Given the description of an element on the screen output the (x, y) to click on. 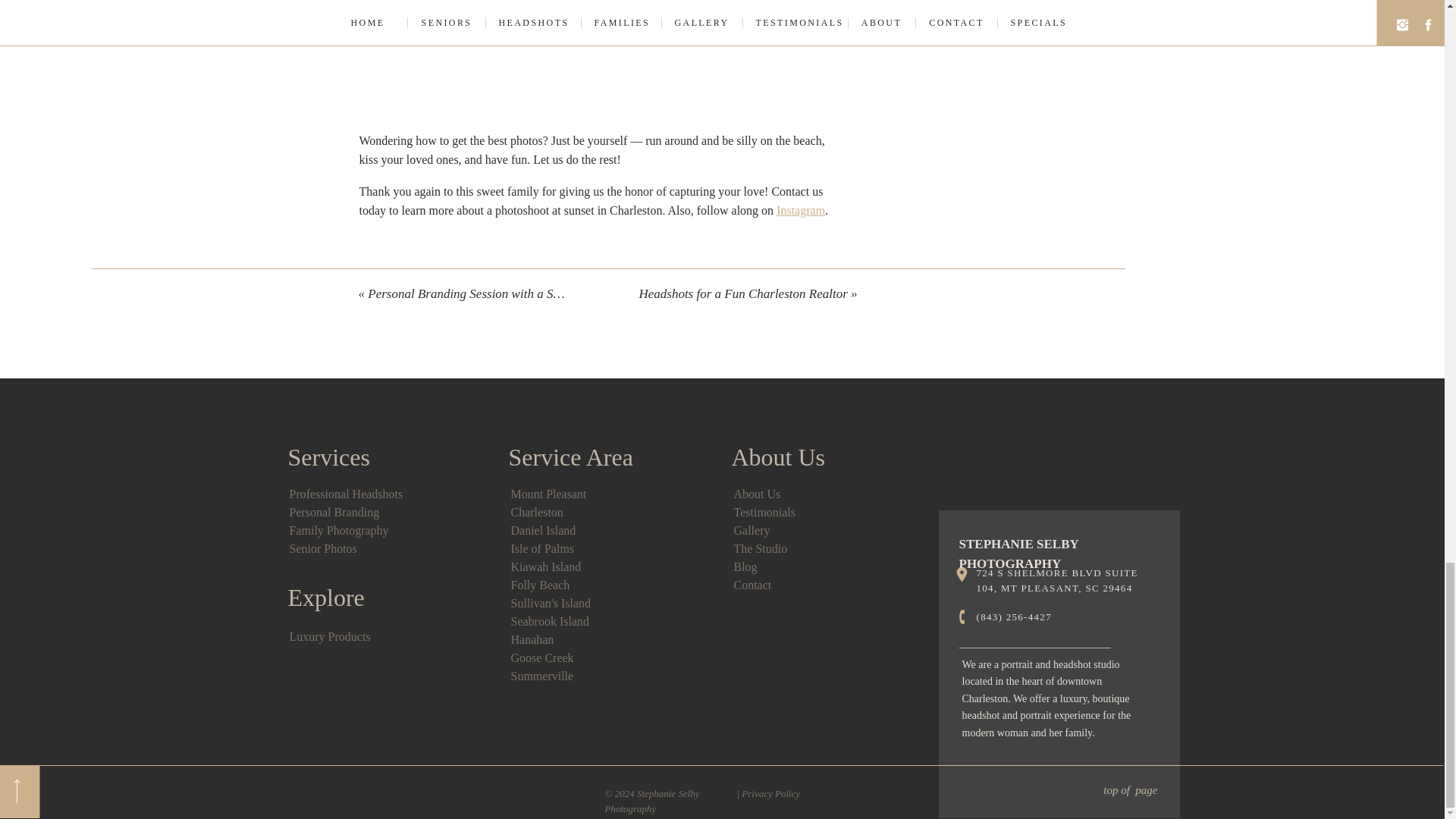
STEPHANIE SELBY PHOTOGRAPHY (1057, 545)
Blog (745, 566)
About Us (756, 493)
Headshots for a Fun Charleston Realtor (743, 293)
Gallery (751, 530)
Contact (752, 584)
Testimonials (764, 512)
top of  page (1054, 791)
724 S SHELMORE BLVD SUITE 104, MT PLEASANT, SC 29464 (1066, 581)
